Given the description of an element on the screen output the (x, y) to click on. 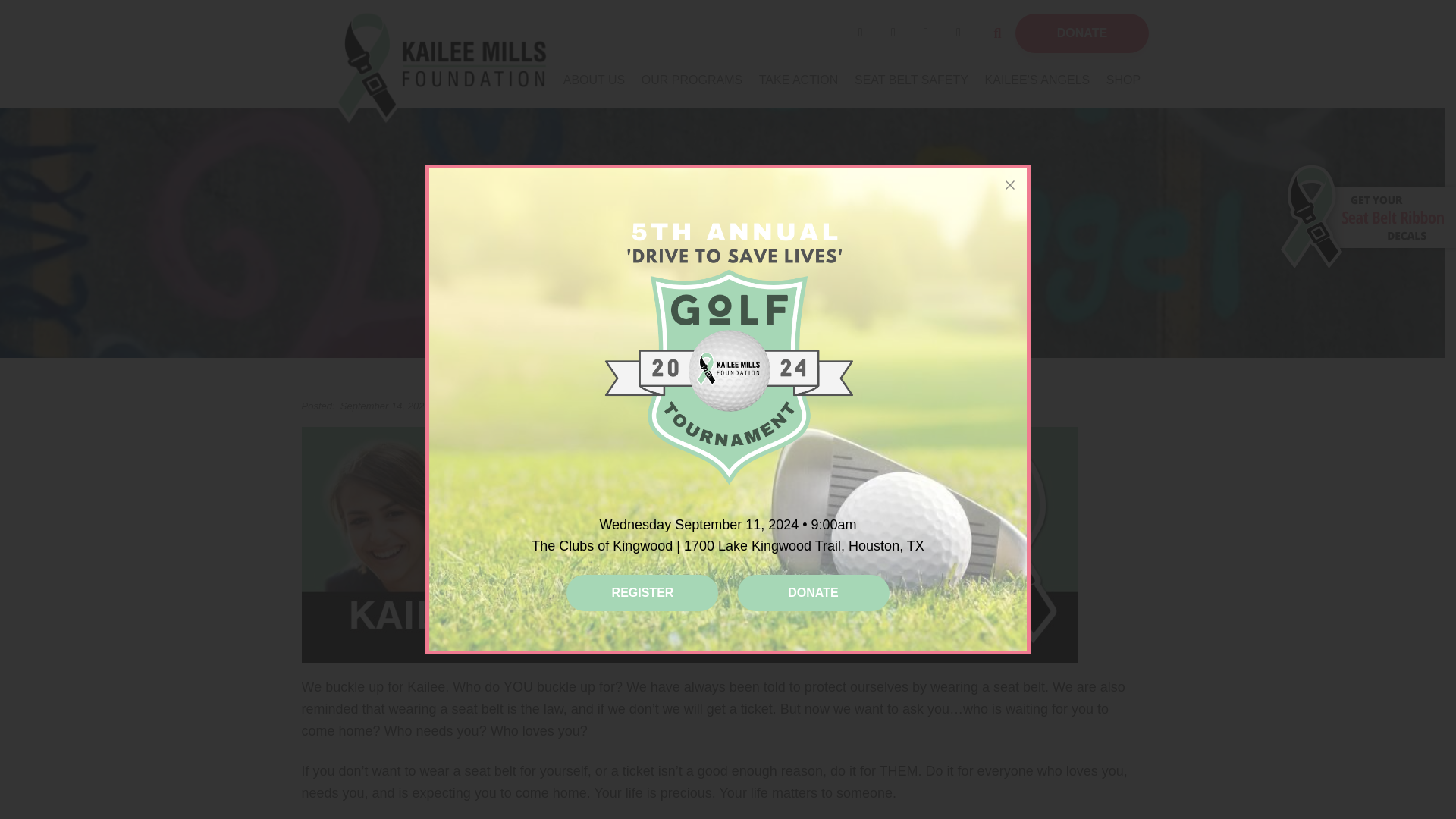
Take Action (798, 80)
SEAT BELT SAFETY (911, 80)
ABOUT US (594, 80)
About Us (594, 80)
Our Programs (692, 80)
TAKE ACTION (798, 80)
Seat Belt Safety (911, 80)
OUR PROGRAMS (692, 80)
DONATE (1081, 33)
